Given the description of an element on the screen output the (x, y) to click on. 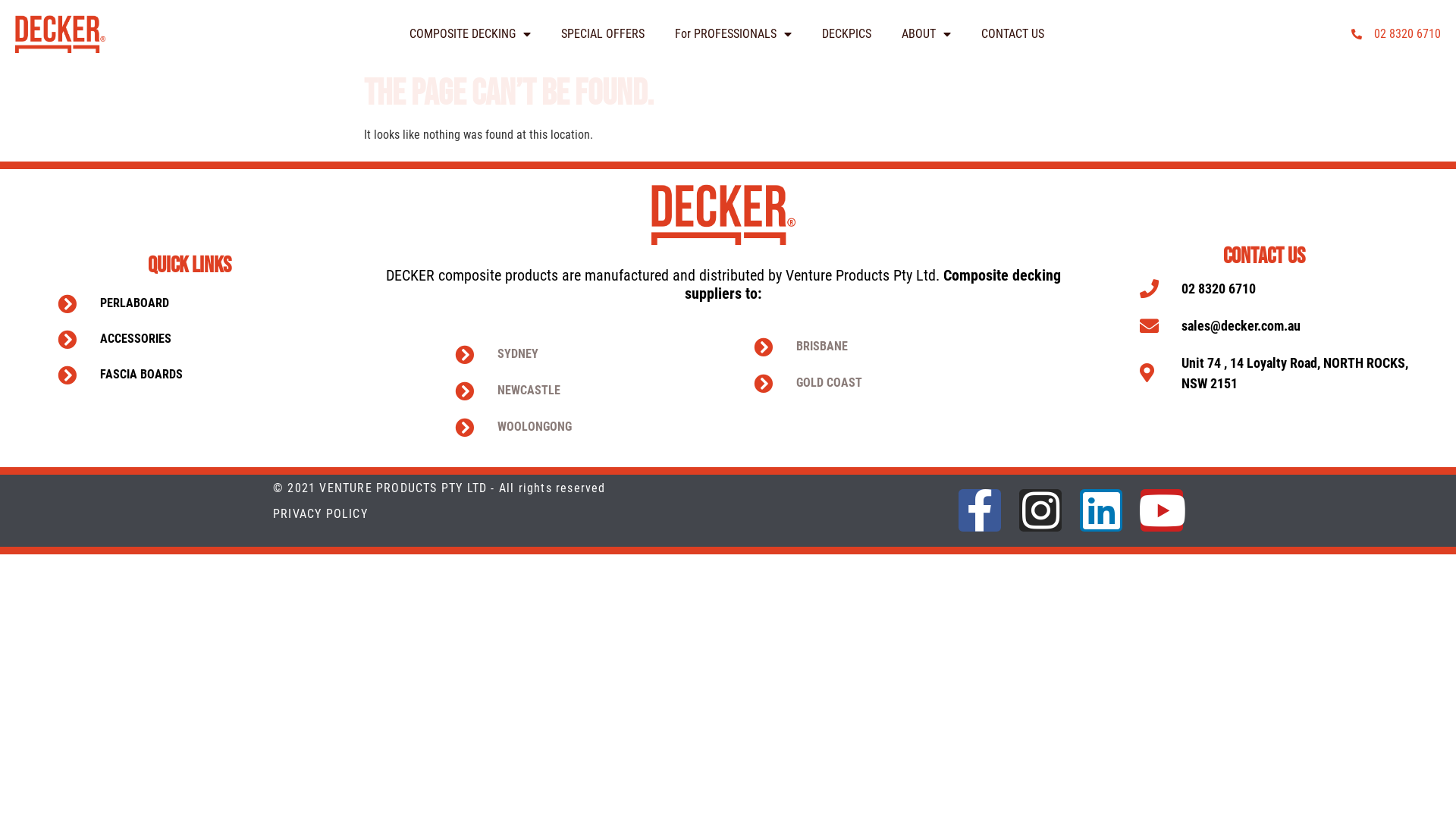
FASCIA BOARDS Element type: text (200, 374)
For PROFESSIONALS Element type: text (732, 33)
sales@decker.com.au Element type: text (1282, 325)
CONTACT US Element type: text (1012, 33)
02 8320 6710 Element type: text (1282, 288)
ACCESSORIES Element type: text (200, 338)
COMPOSITE DECKING Element type: text (470, 33)
DECKER-LOGO-R-PNG-FOR-WEB-190-80 Element type: hover (60, 34)
ABOUT Element type: text (926, 33)
DECKPICS Element type: text (846, 33)
PERLABOARD Element type: text (200, 303)
SPECIAL OFFERS Element type: text (602, 33)
